Given the description of an element on the screen output the (x, y) to click on. 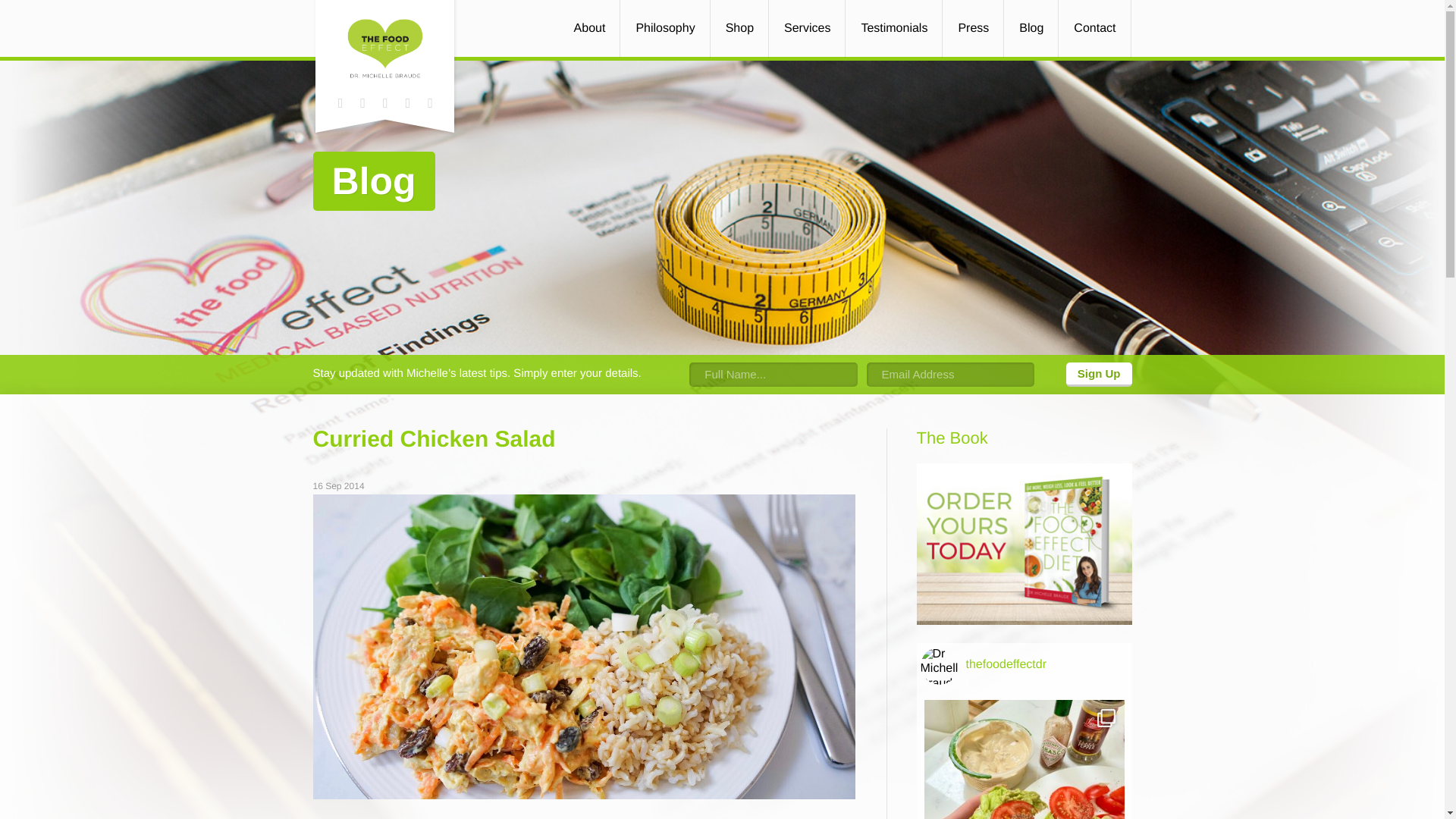
The Food Effect (384, 46)
Press (973, 28)
Services (807, 28)
Contact (1095, 28)
Sign Up (1098, 374)
Shop (739, 28)
Testimonials (893, 28)
Blog (1031, 28)
Sign Up (1098, 374)
thefoodeffectdr (1027, 665)
Philosophy (665, 28)
About (590, 28)
